Given the description of an element on the screen output the (x, y) to click on. 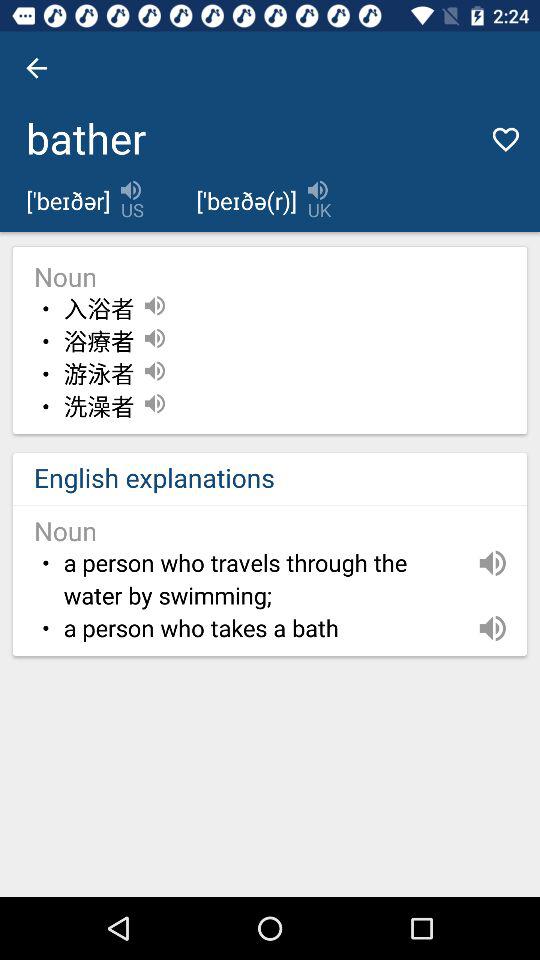
launch the item above english explanations item (98, 407)
